Given the description of an element on the screen output the (x, y) to click on. 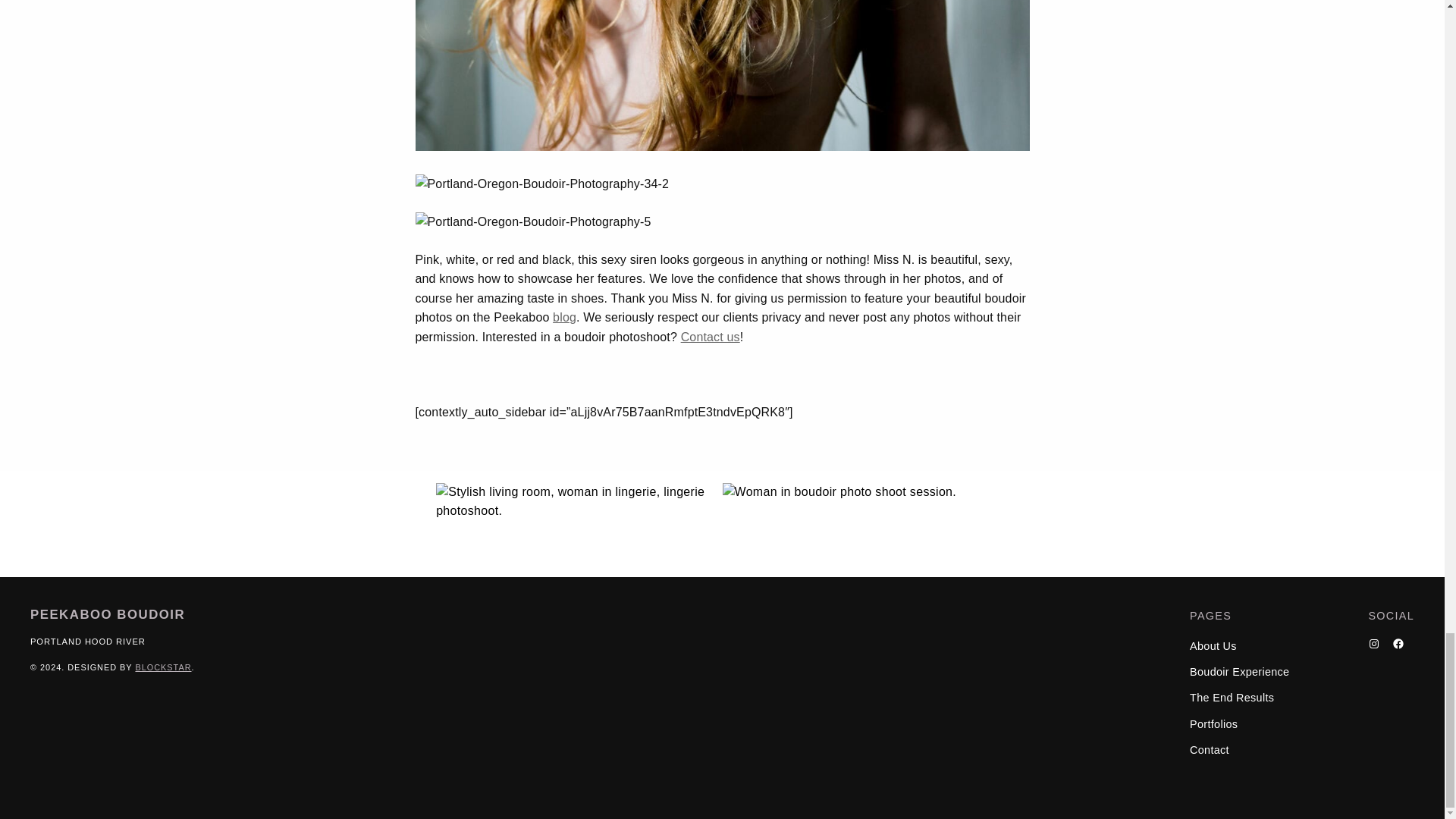
Instagram (1374, 644)
Contact (710, 336)
About Us (1212, 646)
blog (564, 317)
Facebook (1398, 644)
Contact (1208, 750)
Boudoir Experience (1238, 671)
Portfolios (1213, 723)
PEEKABOO BOUDOIR (107, 614)
Contact us (710, 336)
The End Results (1231, 697)
BLOCKSTAR (162, 666)
blog (564, 317)
